Given the description of an element on the screen output the (x, y) to click on. 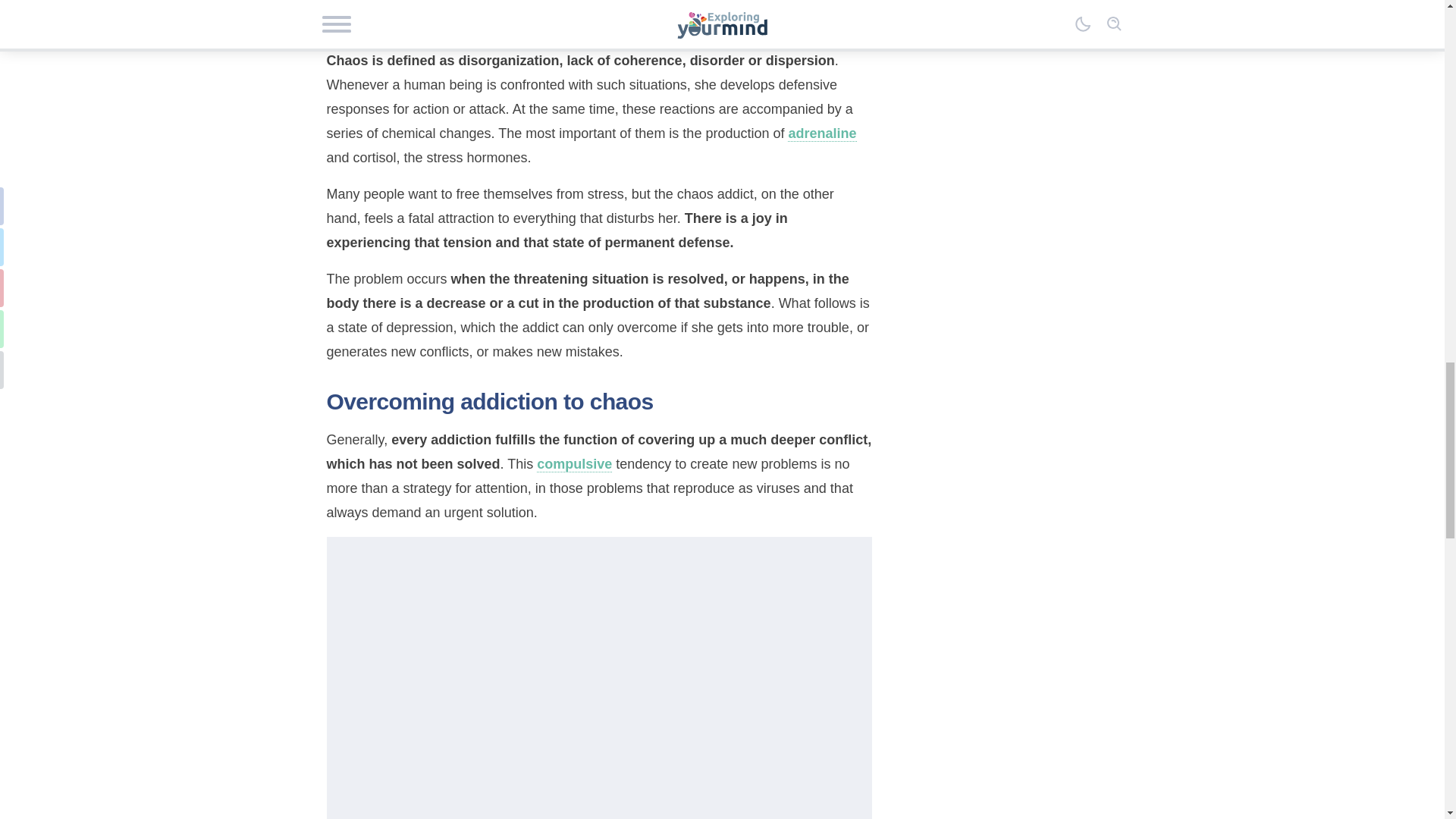
adrenaline (821, 133)
compulsive (574, 464)
